Given the description of an element on the screen output the (x, y) to click on. 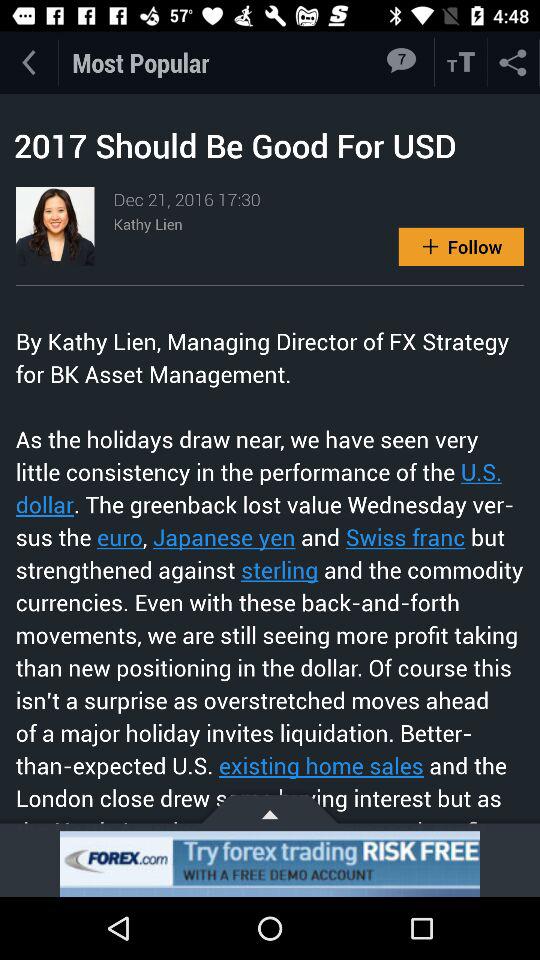
return to homepage (28, 62)
